Given the description of an element on the screen output the (x, y) to click on. 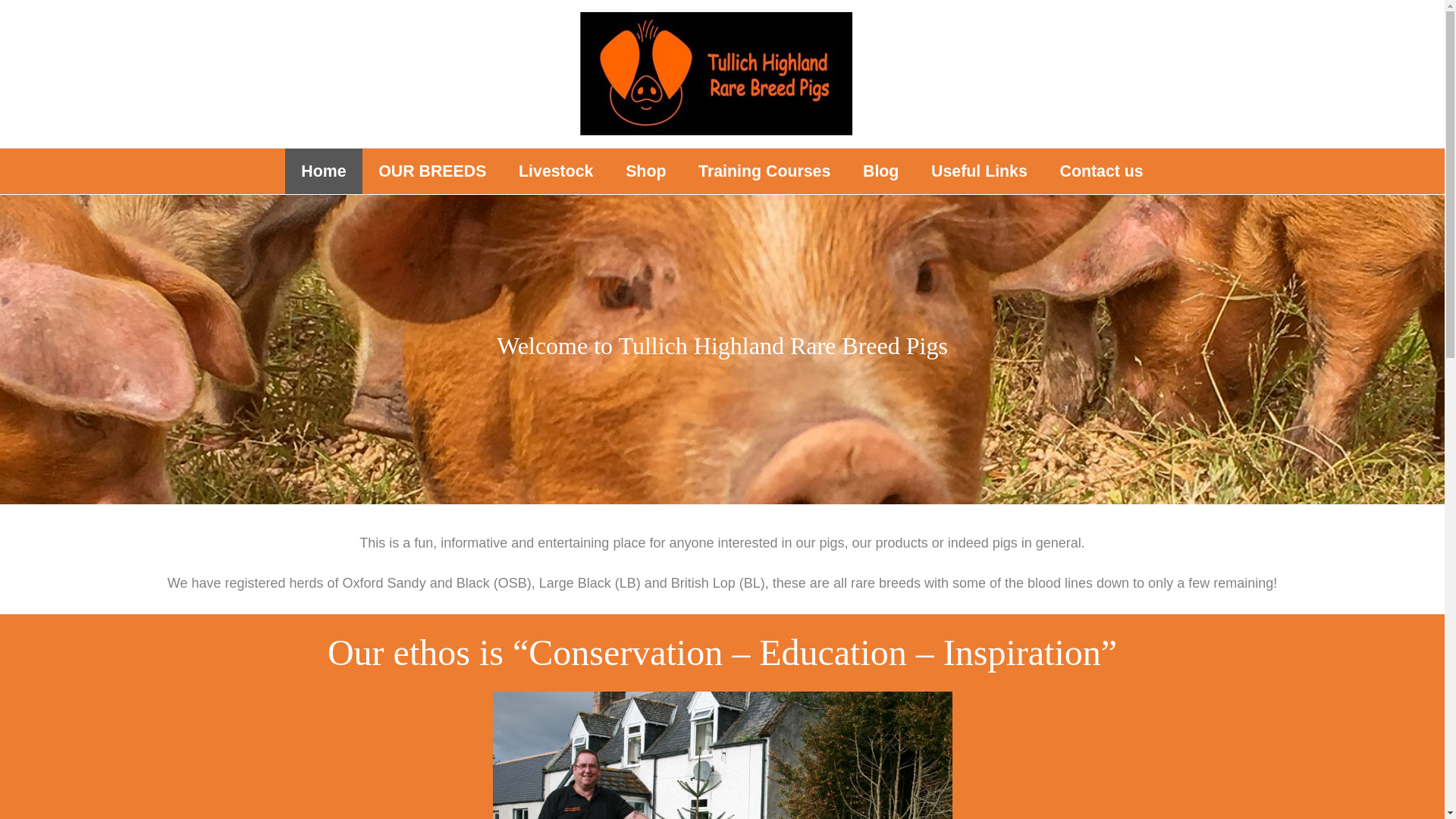
Training Courses (764, 171)
Shop (646, 171)
Useful Links (979, 171)
Contact us (1100, 171)
Home (323, 171)
Livestock (556, 171)
Blog (881, 171)
OUR BREEDS (432, 171)
